Given the description of an element on the screen output the (x, y) to click on. 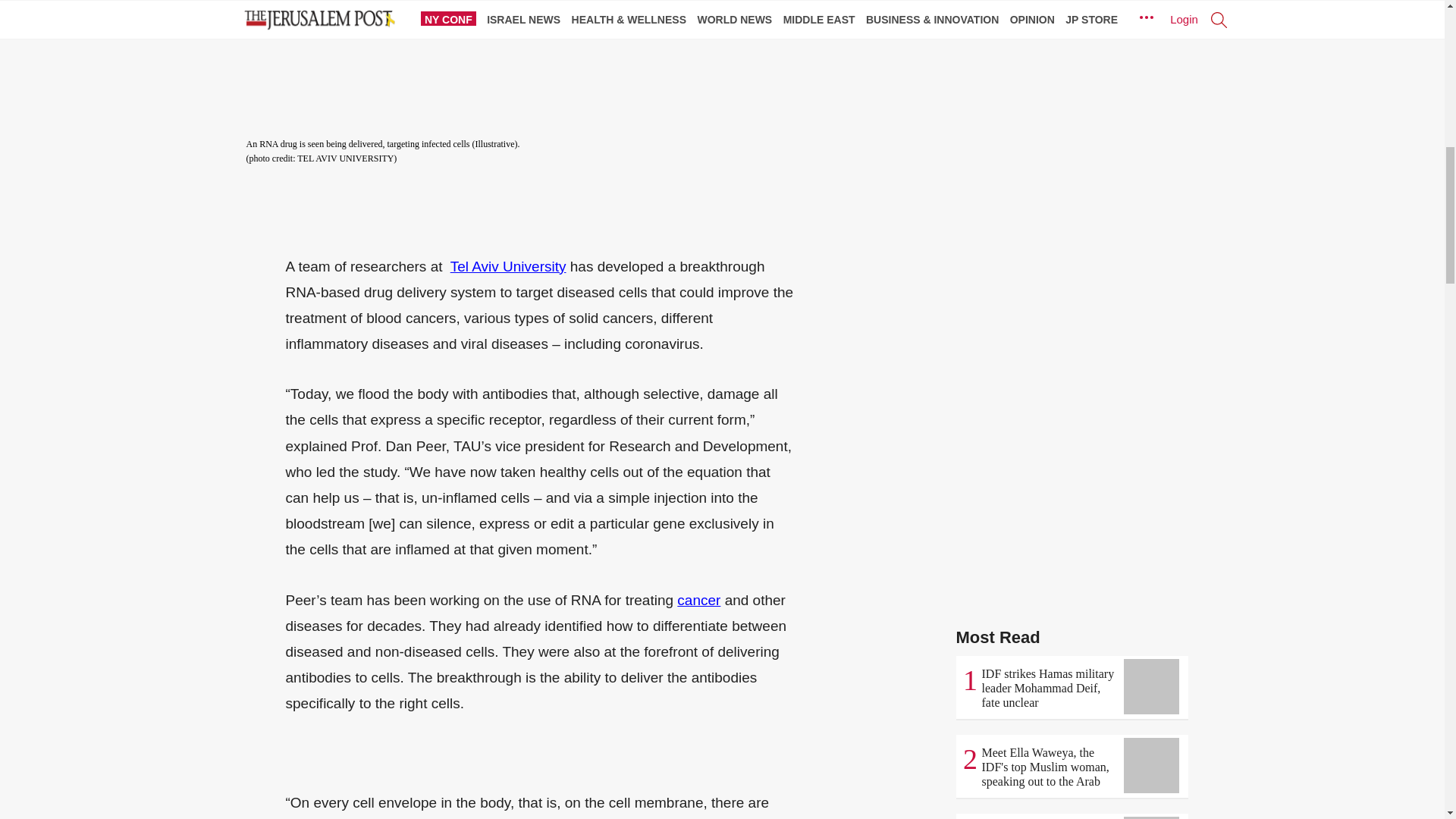
cancer (698, 600)
Tel Aviv University (507, 266)
